Given the description of an element on the screen output the (x, y) to click on. 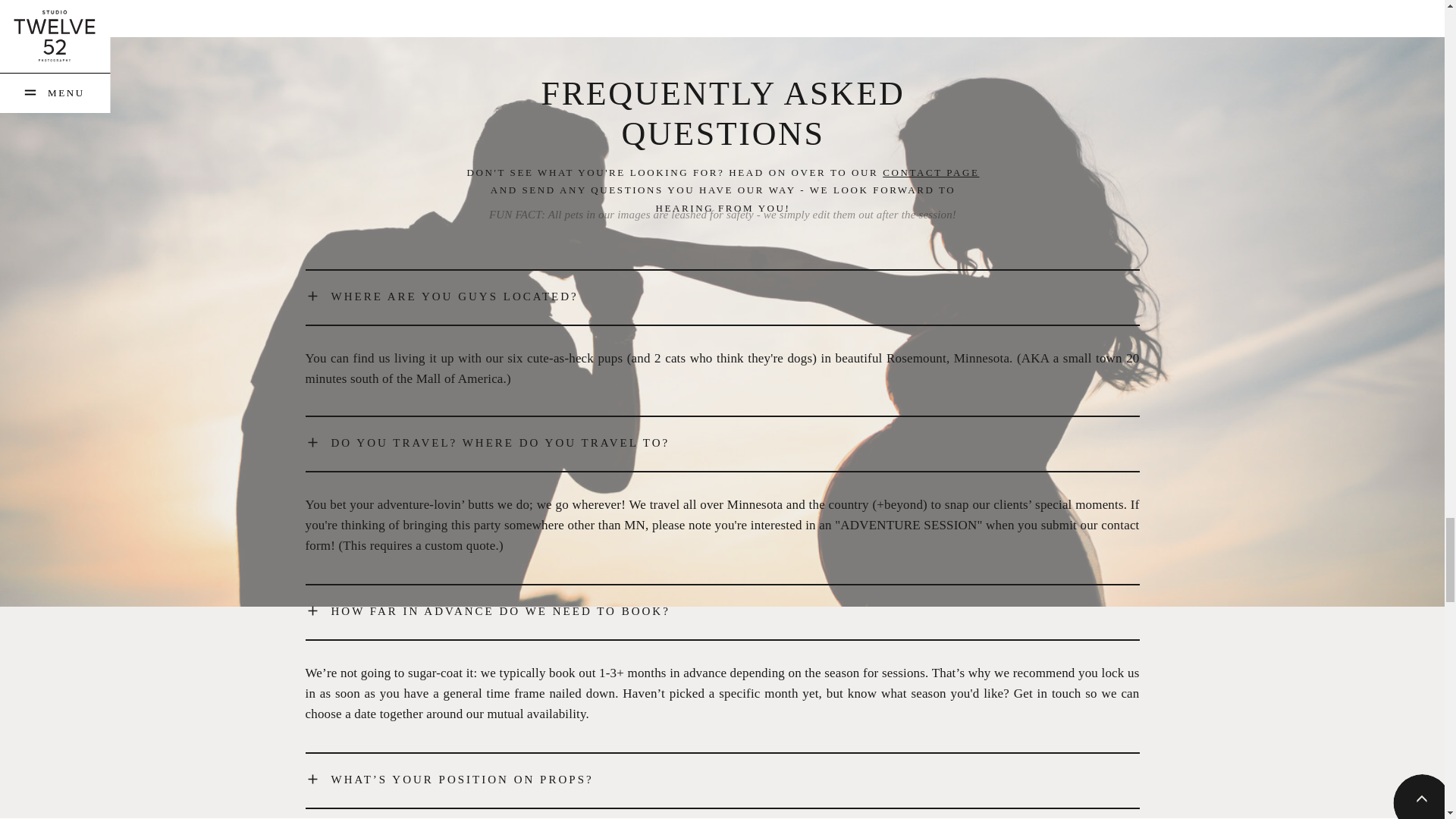
CONTACT PAGE (930, 172)
